Given the description of an element on the screen output the (x, y) to click on. 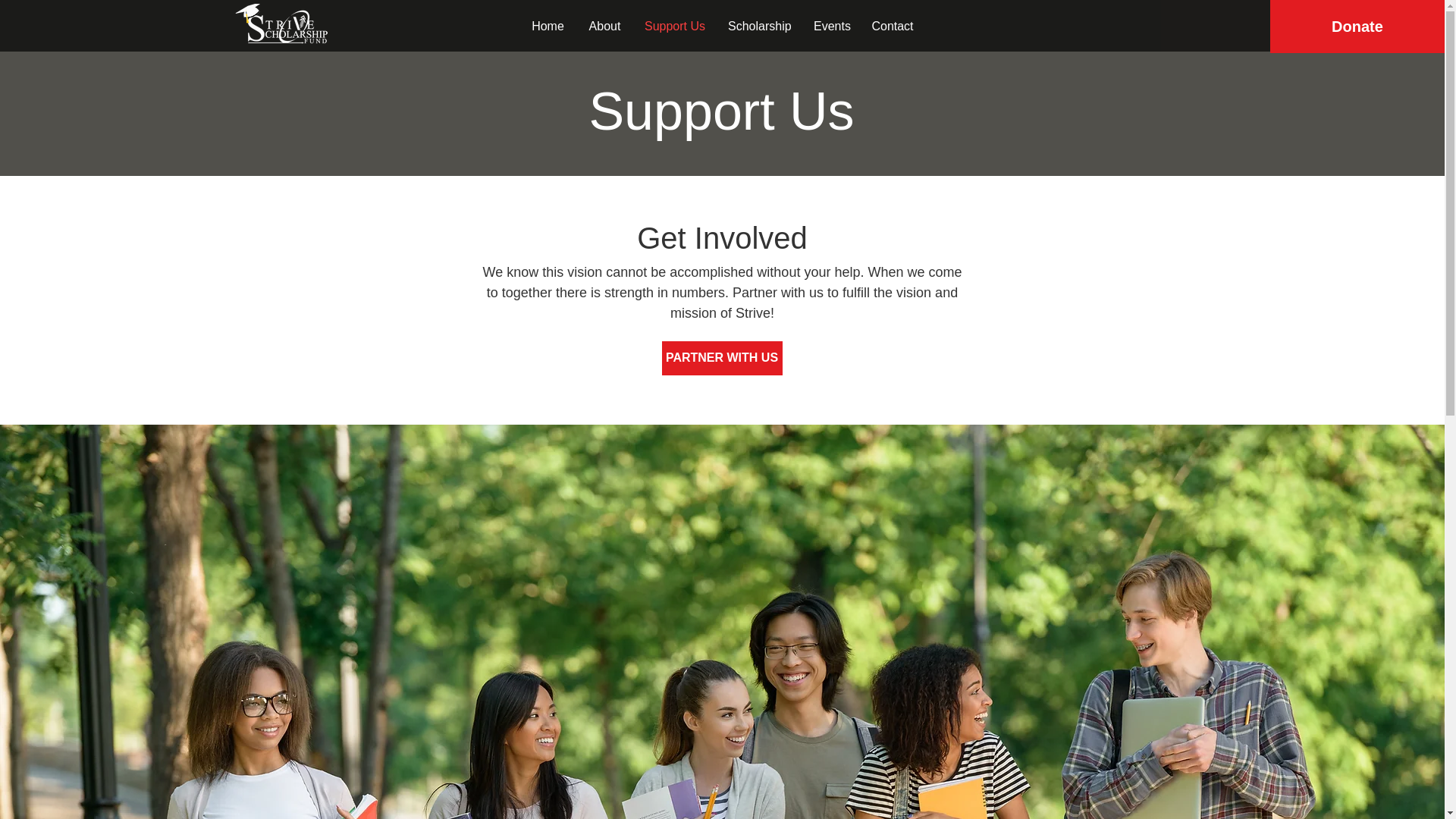
PARTNER WITH US (721, 358)
Home (547, 26)
Support Us (674, 26)
Scholarship (759, 26)
About (604, 26)
Events (831, 26)
Contact (892, 26)
